Given the description of an element on the screen output the (x, y) to click on. 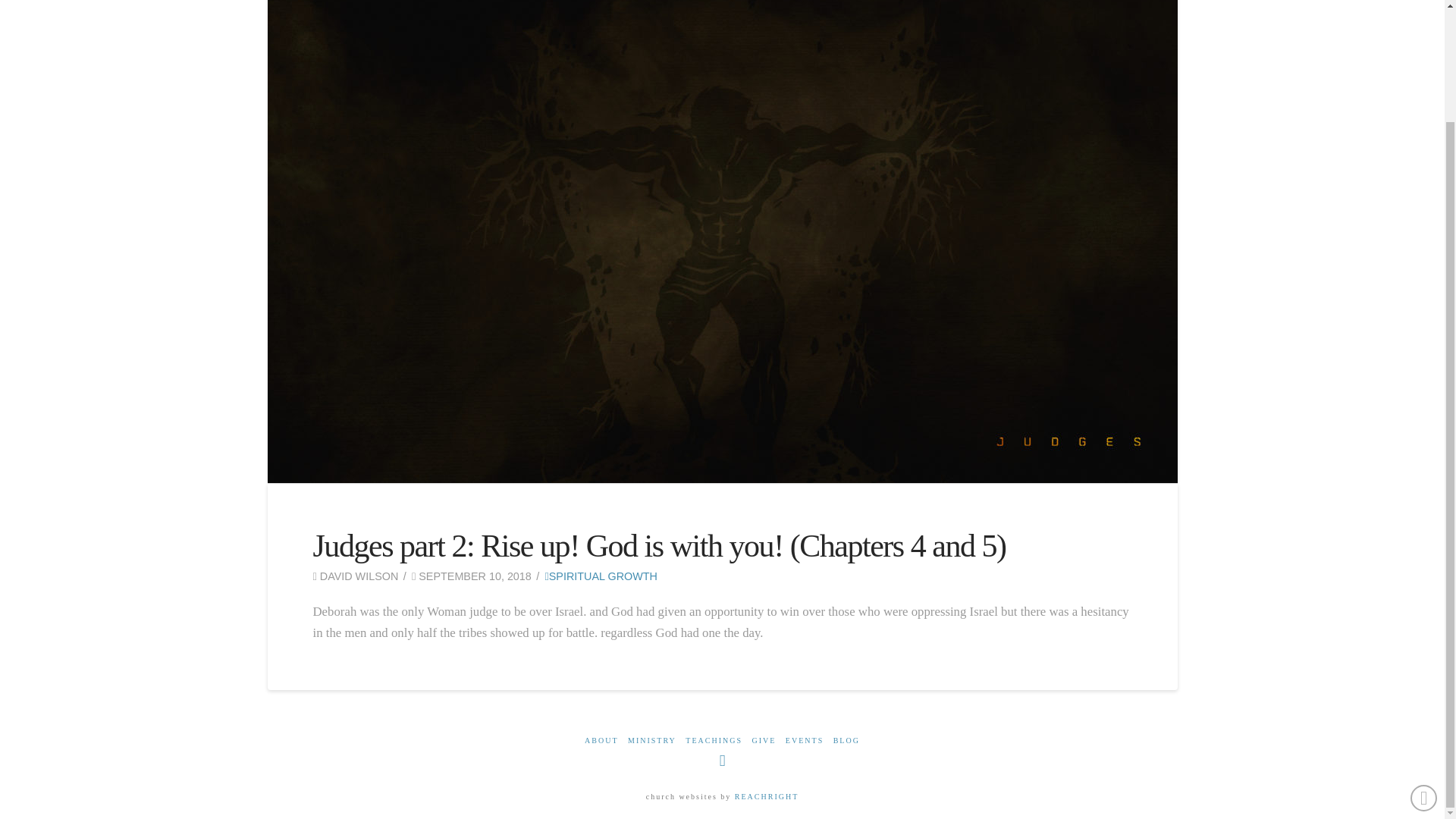
GIVE (763, 740)
REACHRIGHT (763, 796)
BLOG (846, 740)
EVENTS (805, 740)
Back to Top (1423, 665)
TEACHINGS (713, 740)
MINISTRY (652, 740)
ABOUT (601, 740)
church web design by REACHRIGHT (763, 796)
SPIRITUAL GROWTH (601, 576)
